Given the description of an element on the screen output the (x, y) to click on. 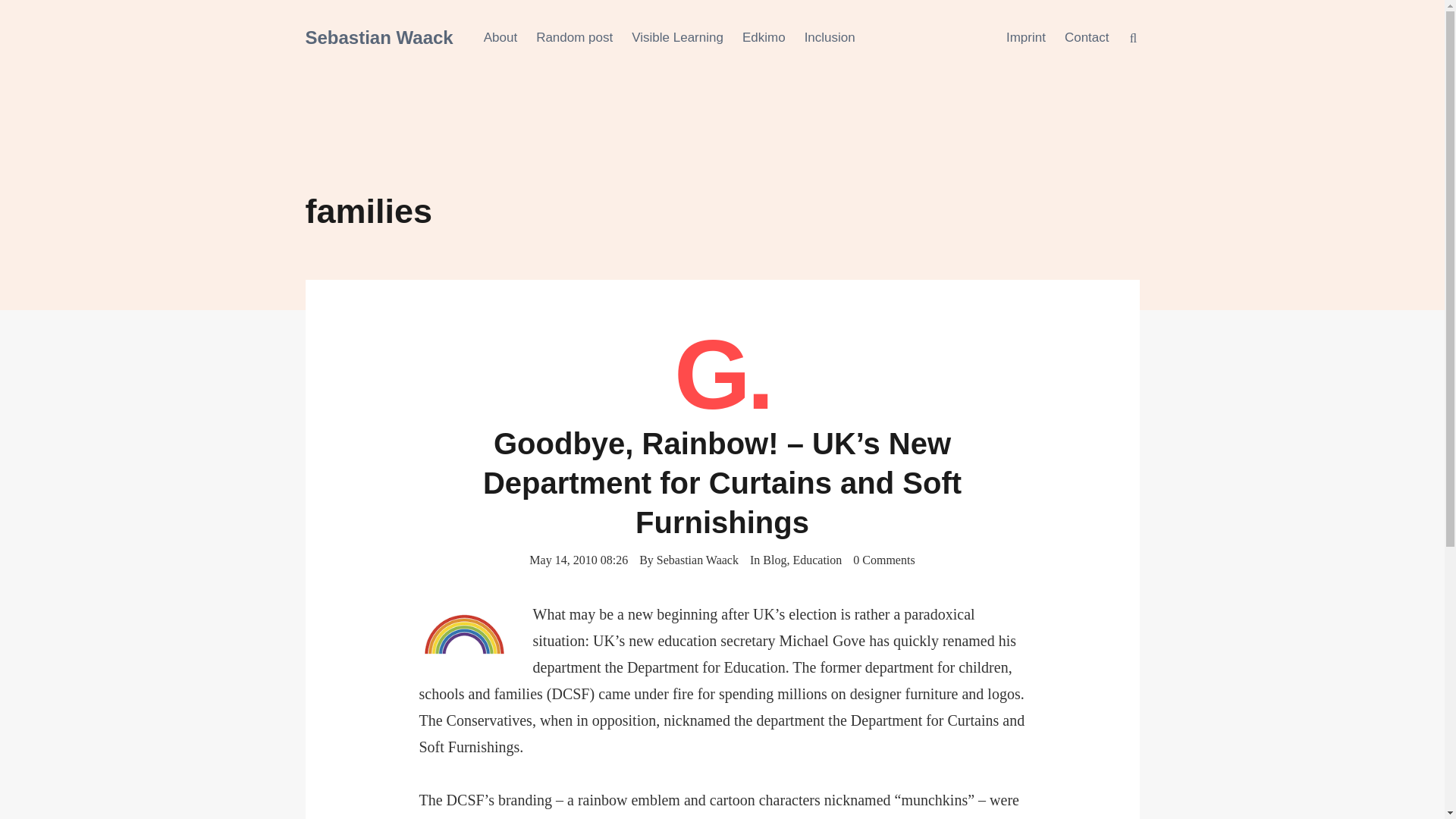
Feedback for Learning  (764, 37)
Sebastian Waack (378, 37)
Blog (774, 559)
Education (816, 559)
Edkimo (764, 37)
dcsf-old-logo (464, 634)
Inclusion (830, 37)
0 Comments (883, 559)
Sebastian Waack (378, 37)
Contact (1086, 37)
Sebastian Waack (697, 559)
May 14, 2010 08:26 (578, 559)
Random post (573, 37)
Imprint (1025, 37)
About (499, 37)
